Given the description of an element on the screen output the (x, y) to click on. 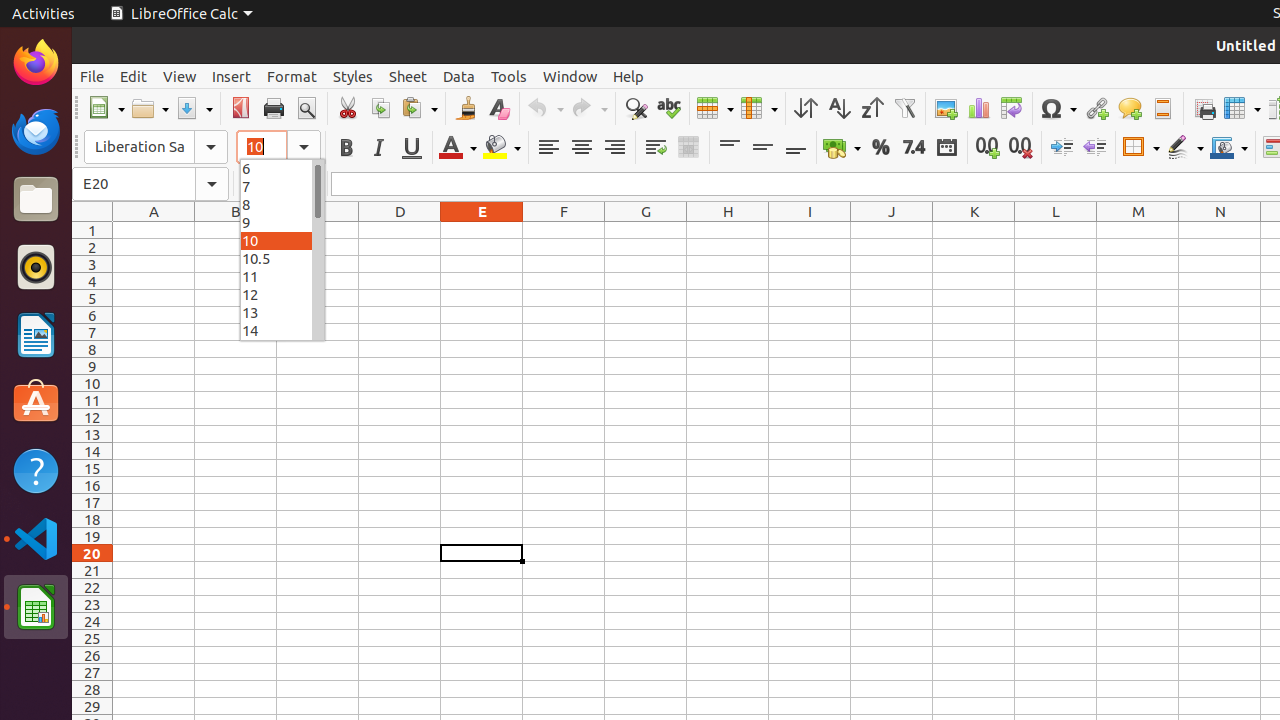
Redo Element type: push-button (589, 108)
Undo Element type: push-button (545, 108)
Edit Element type: menu (133, 76)
PDF Element type: push-button (240, 108)
9 Element type: list-item (282, 222)
